Given the description of an element on the screen output the (x, y) to click on. 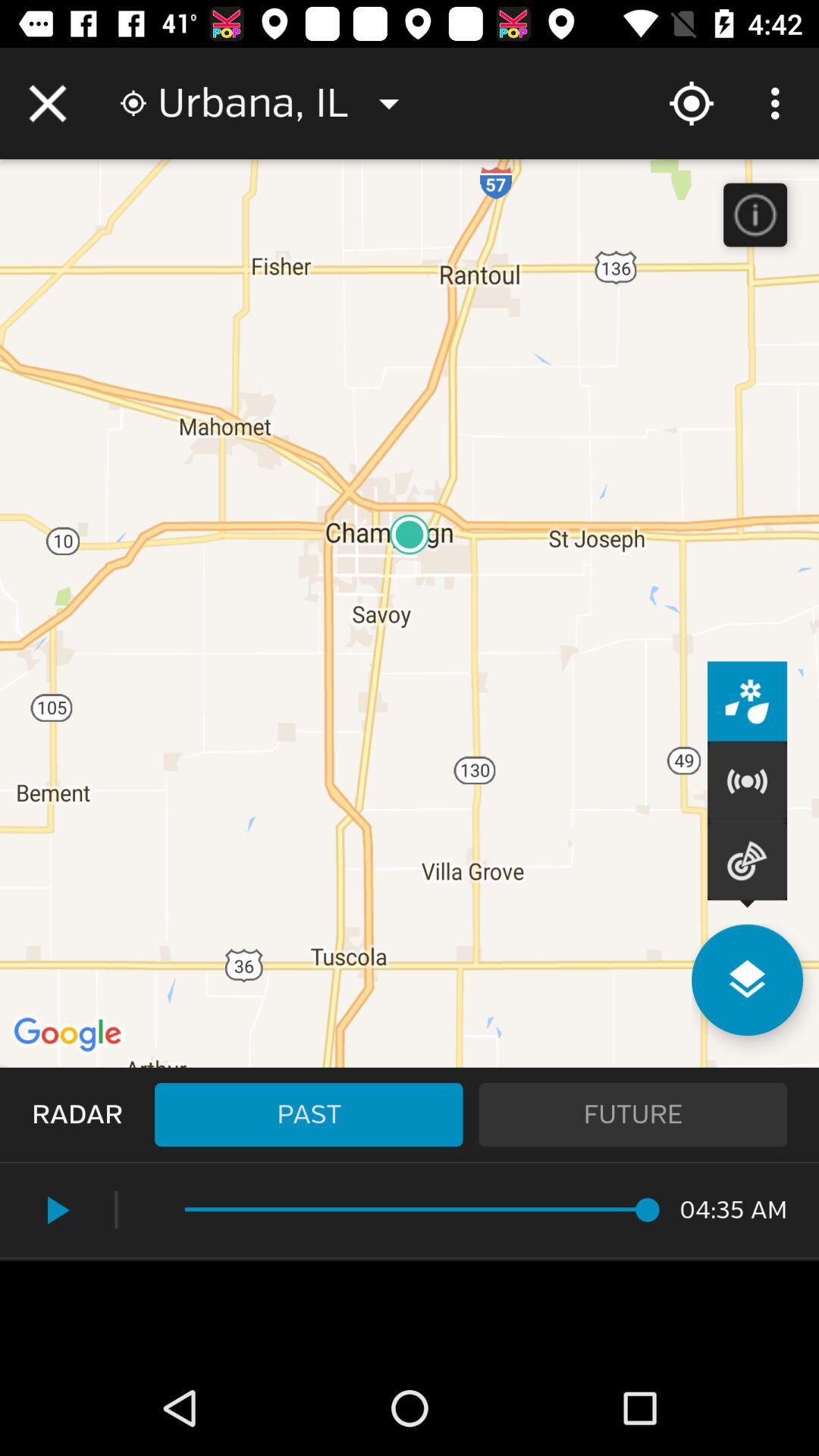
see other pages (747, 979)
